Given the description of an element on the screen output the (x, y) to click on. 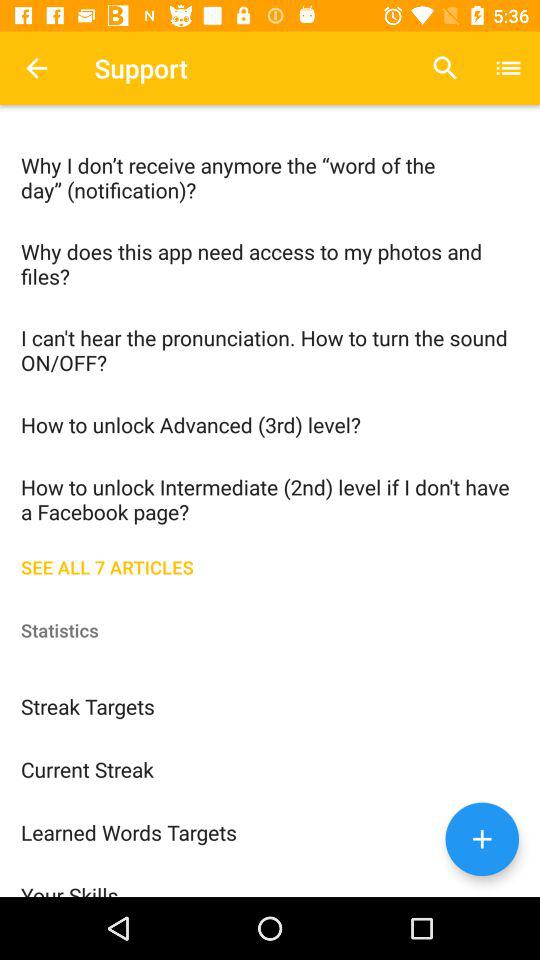
launch the item to the right of support (444, 67)
